Given the description of an element on the screen output the (x, y) to click on. 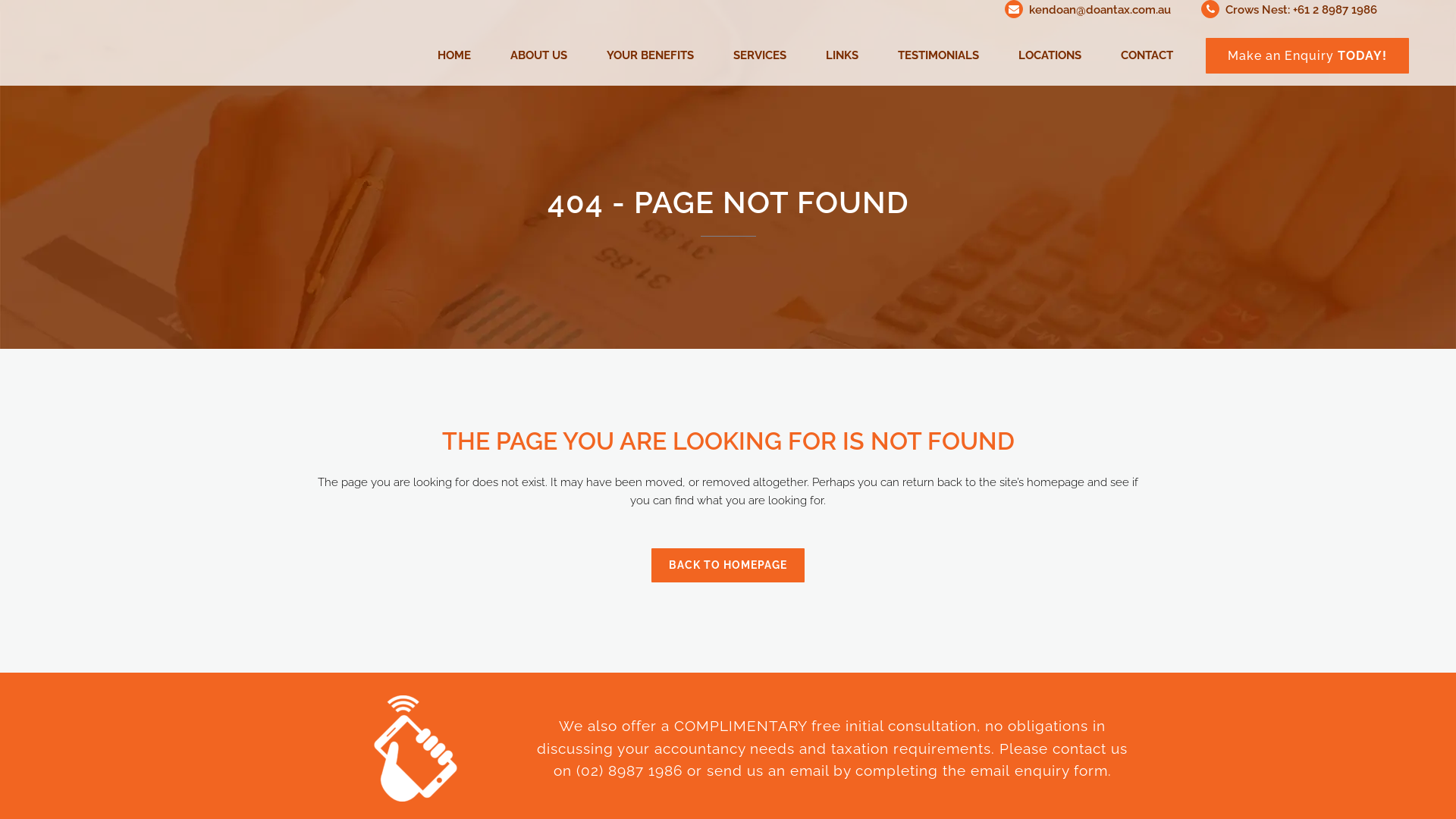
LINKS Element type: text (841, 55)
CONTACT Element type: text (1146, 55)
Crows Nest: +61 2 8987 1986 Element type: text (1301, 9)
enquiry form. Element type: text (1062, 770)
hand-with-smartphone-and-wireless-internet Element type: hover (415, 748)
SERVICES Element type: text (759, 55)
YOUR BENEFITS Element type: text (649, 55)
kendoan@doantax.com.au Element type: text (1099, 9)
TESTIMONIALS Element type: text (938, 55)
(02) 8987 1986 Element type: text (629, 770)
LOCATIONS Element type: text (1049, 55)
BACK TO HOMEPAGE Element type: text (727, 565)
ABOUT US Element type: text (538, 55)
Make an Enquiry TODAY! Element type: text (1306, 55)
HOME Element type: text (454, 55)
